Given the description of an element on the screen output the (x, y) to click on. 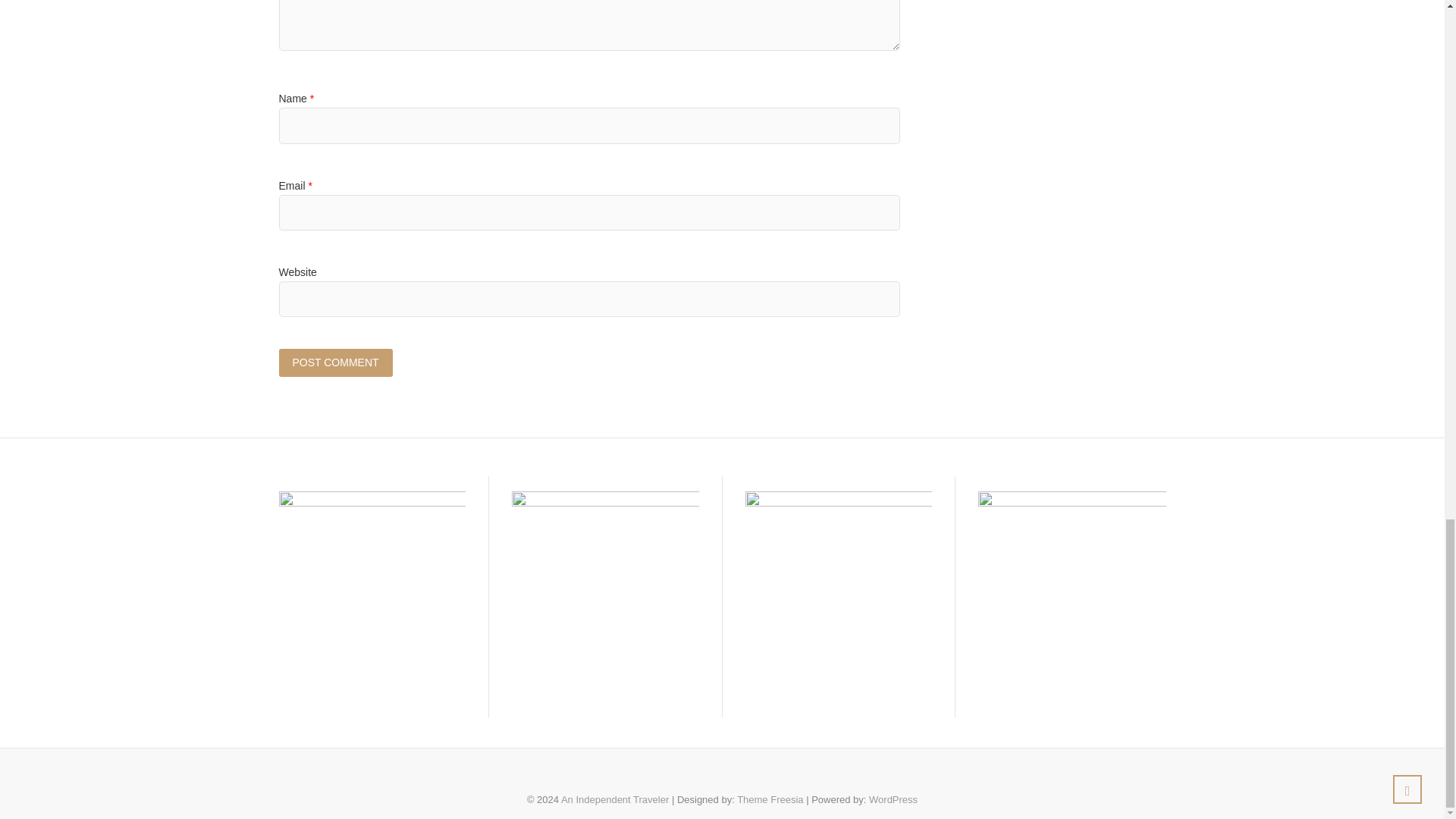
Theme Freesia (769, 799)
An Independent Traveler (614, 799)
Post Comment (336, 362)
WordPress (893, 799)
